Given the description of an element on the screen output the (x, y) to click on. 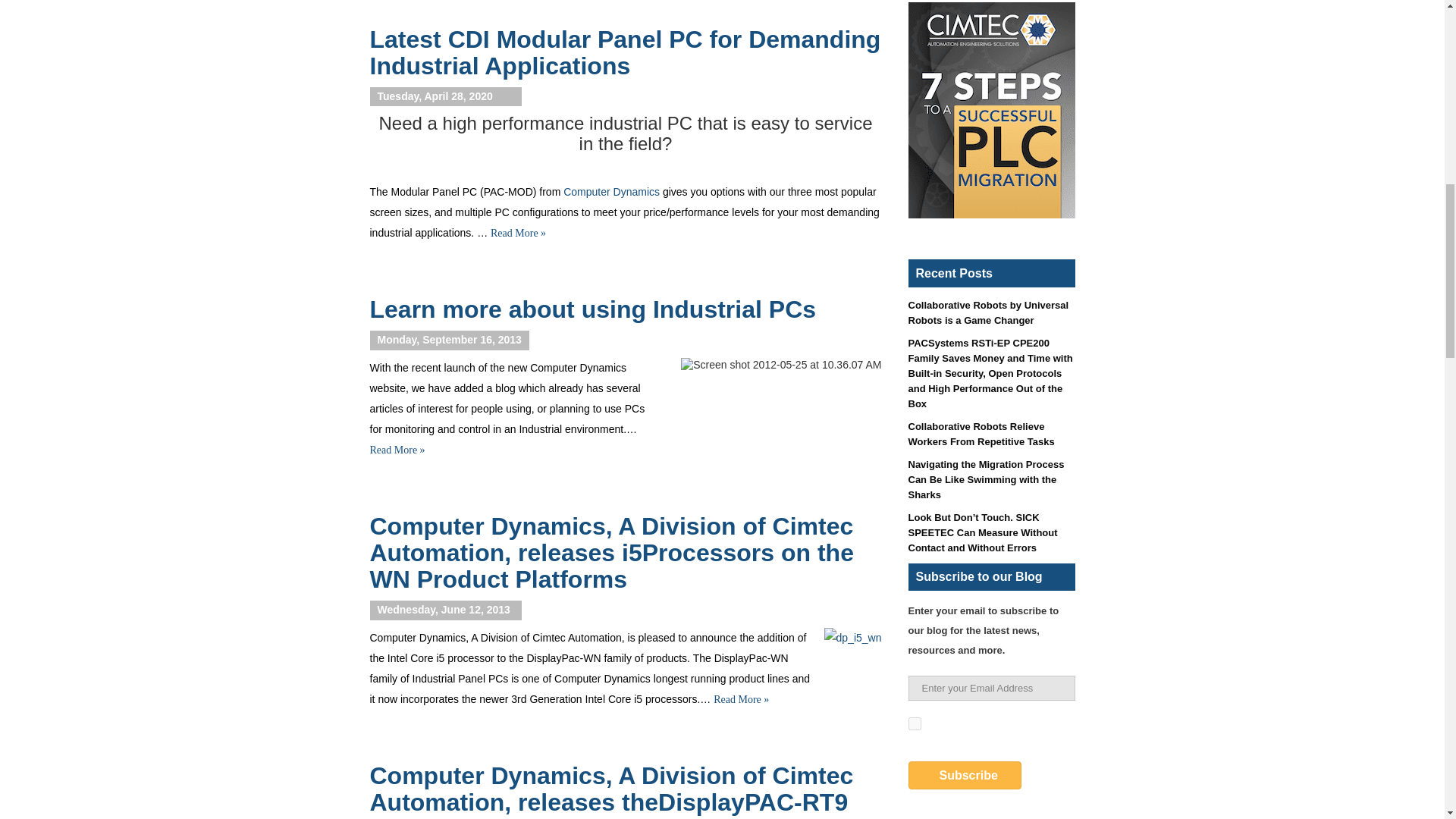
Computer Dynamics (611, 191)
Subscribe (965, 775)
on (914, 723)
Learn more about using Industrial PCs (592, 308)
Permalink to Learn more about using Industrial PCs (592, 308)
